Given the description of an element on the screen output the (x, y) to click on. 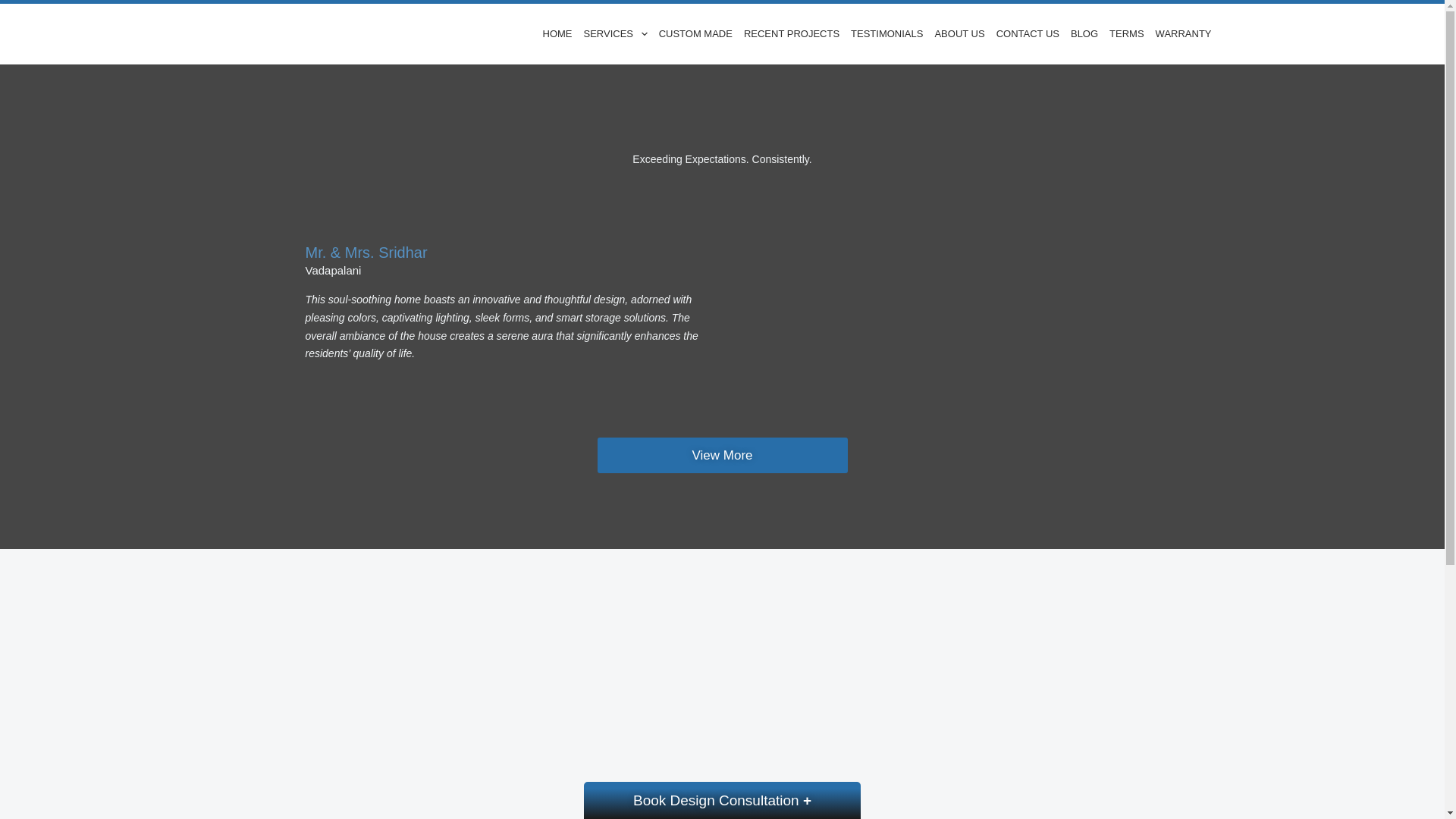
RECENT PROJECTS (791, 34)
TESTIMONIALS (886, 34)
CONTACT US (1027, 34)
ABOUT US (959, 34)
CUSTOM MADE (695, 34)
WARRANTY (1180, 34)
SERVICES (615, 34)
Skip to content (15, 7)
View More (721, 455)
